Given the description of an element on the screen output the (x, y) to click on. 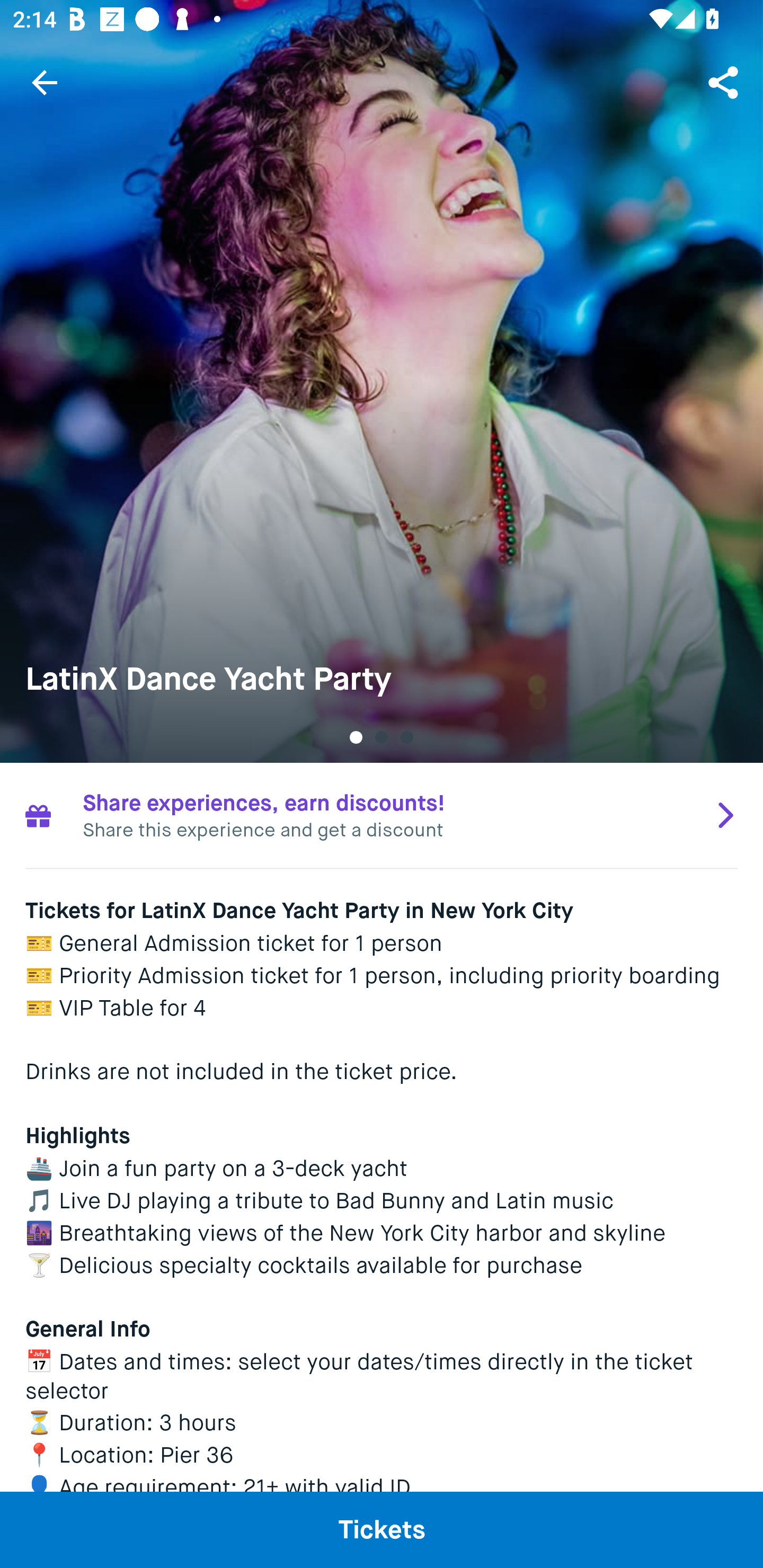
Navigate up (44, 82)
Share (724, 81)
Tickets (381, 1529)
